Given the description of an element on the screen output the (x, y) to click on. 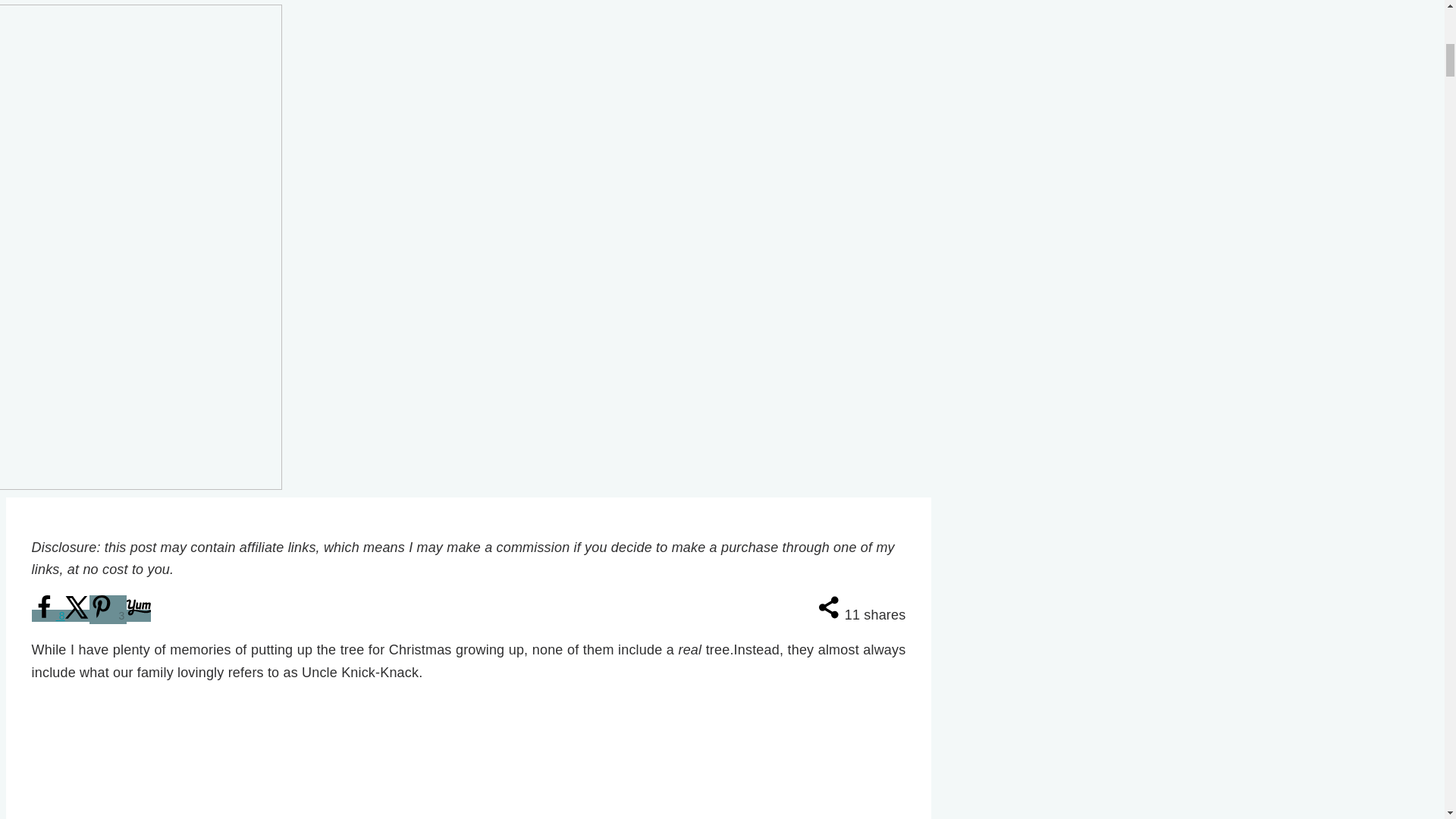
Share on Yummly (138, 615)
3 (108, 609)
Share on X (76, 615)
Share on Facebook (48, 615)
Save to Pinterest (108, 609)
8 (48, 615)
